Given the description of an element on the screen output the (x, y) to click on. 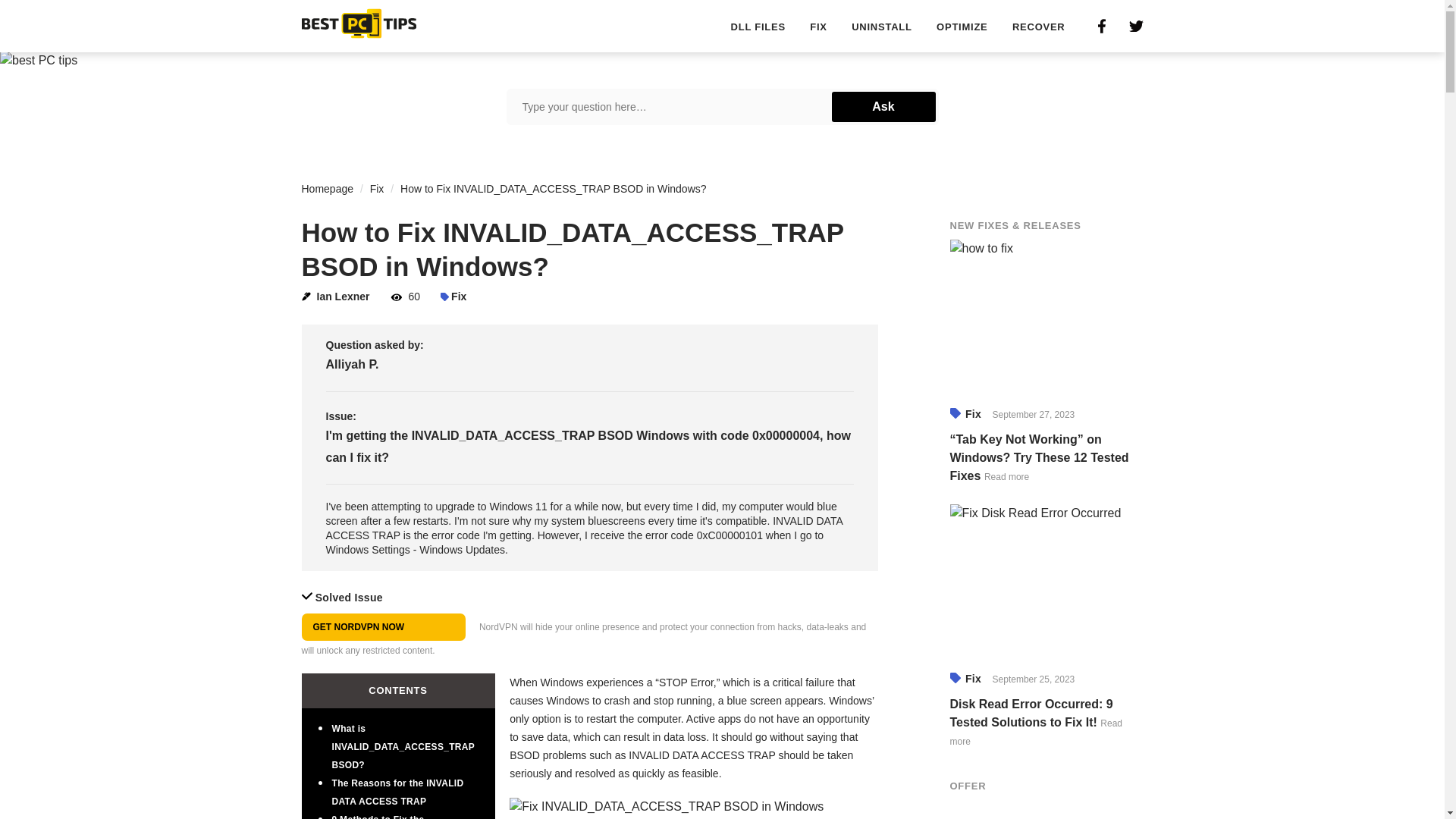
UNINSTALL (881, 26)
Ask (882, 106)
RECOVER (1038, 26)
Fix (376, 188)
Ask (882, 106)
The Reasons for the INVALID DATA ACCESS TRAP (397, 792)
OPTIMIZE (961, 26)
GET NORDVPN NOW (383, 626)
Homepage (327, 188)
FIX (818, 26)
DLL FILES (758, 26)
